Given the description of an element on the screen output the (x, y) to click on. 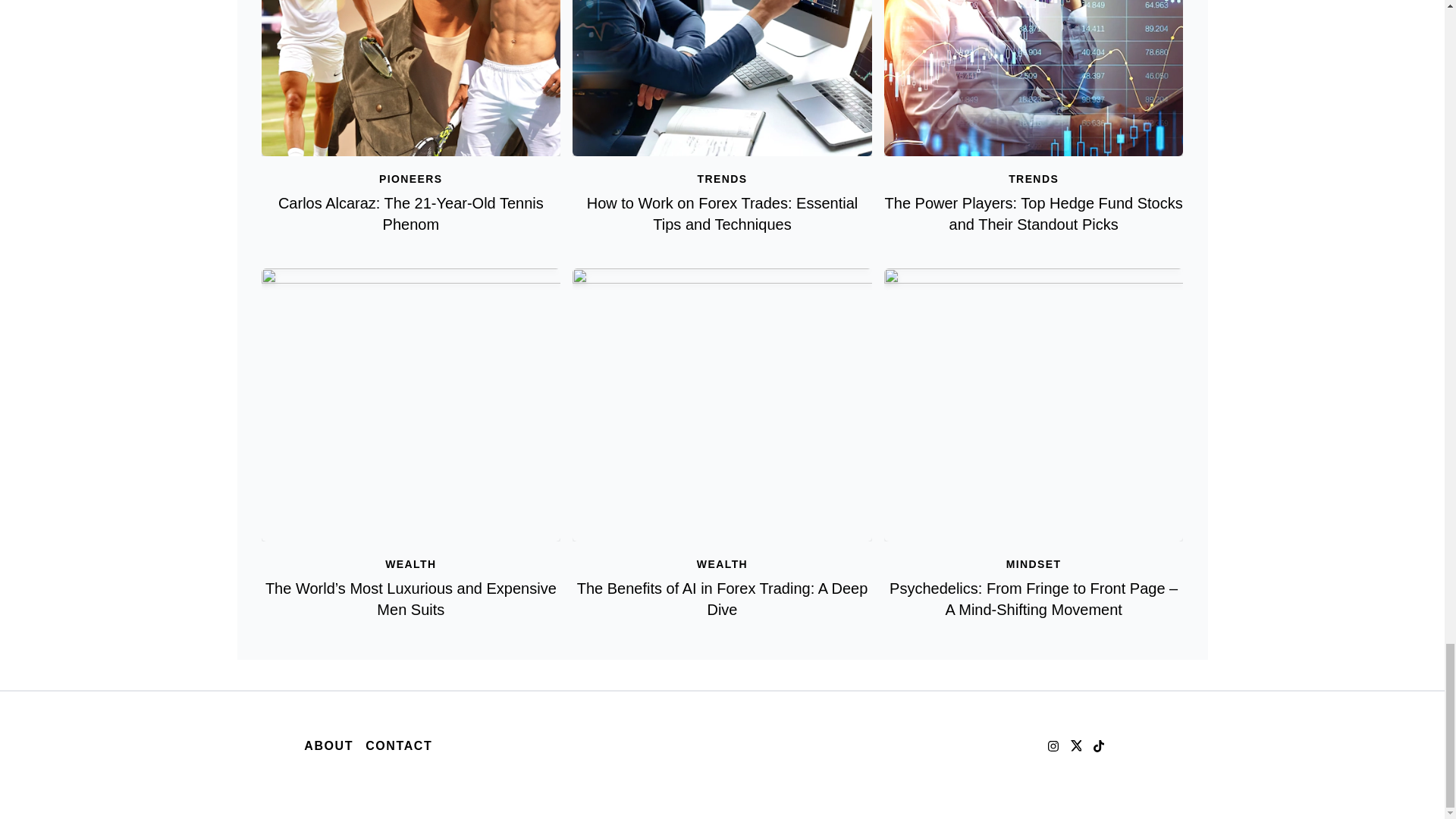
CONTACT (398, 746)
ABOUT (328, 746)
